Given the description of an element on the screen output the (x, y) to click on. 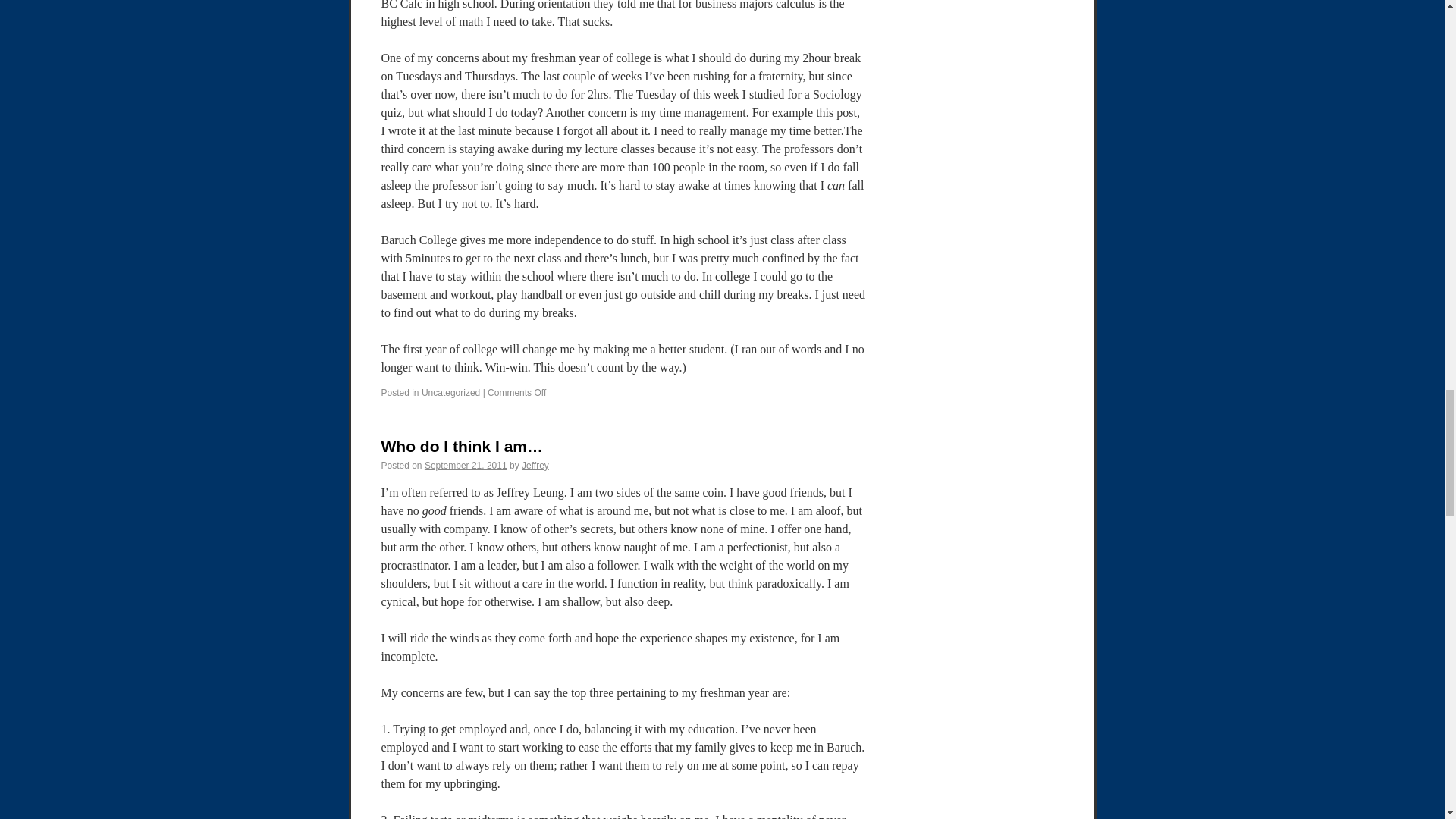
Jeffrey (534, 465)
September 21, 2011 (465, 465)
Uncategorized (451, 392)
